Given the description of an element on the screen output the (x, y) to click on. 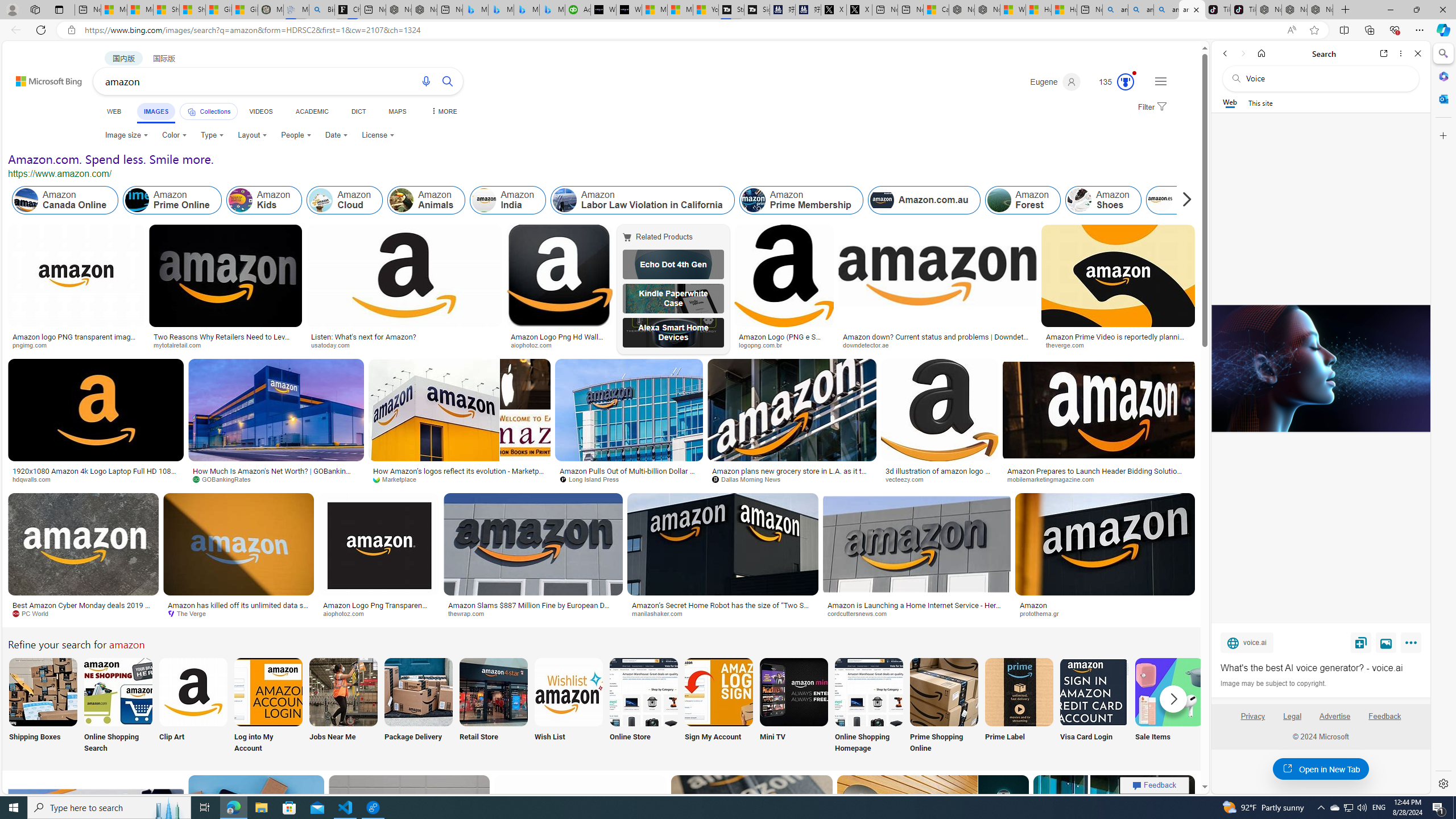
vecteezy.com (908, 479)
Accounting Software for Accountants, CPAs and Bookkeepers (577, 9)
Chloe Sorvino (347, 9)
Retail Store (493, 706)
License (377, 135)
Amazon Prime Label Prime Label (1018, 706)
hdqwalls.com (96, 479)
Amazon Forest (1023, 199)
Kindle Paperwhite Case (673, 298)
Save (1361, 642)
